Given the description of an element on the screen output the (x, y) to click on. 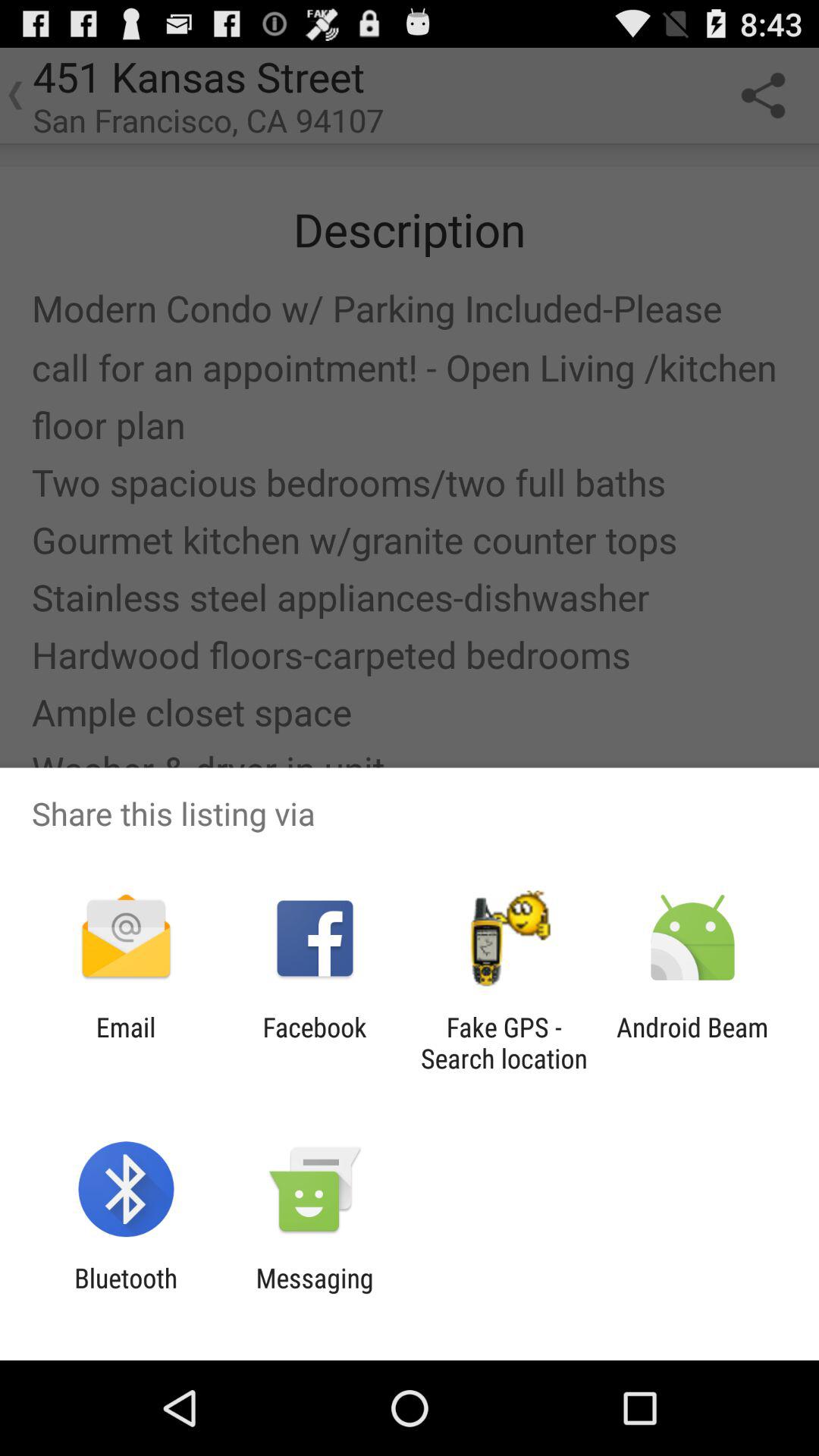
choose the messaging item (314, 1293)
